Given the description of an element on the screen output the (x, y) to click on. 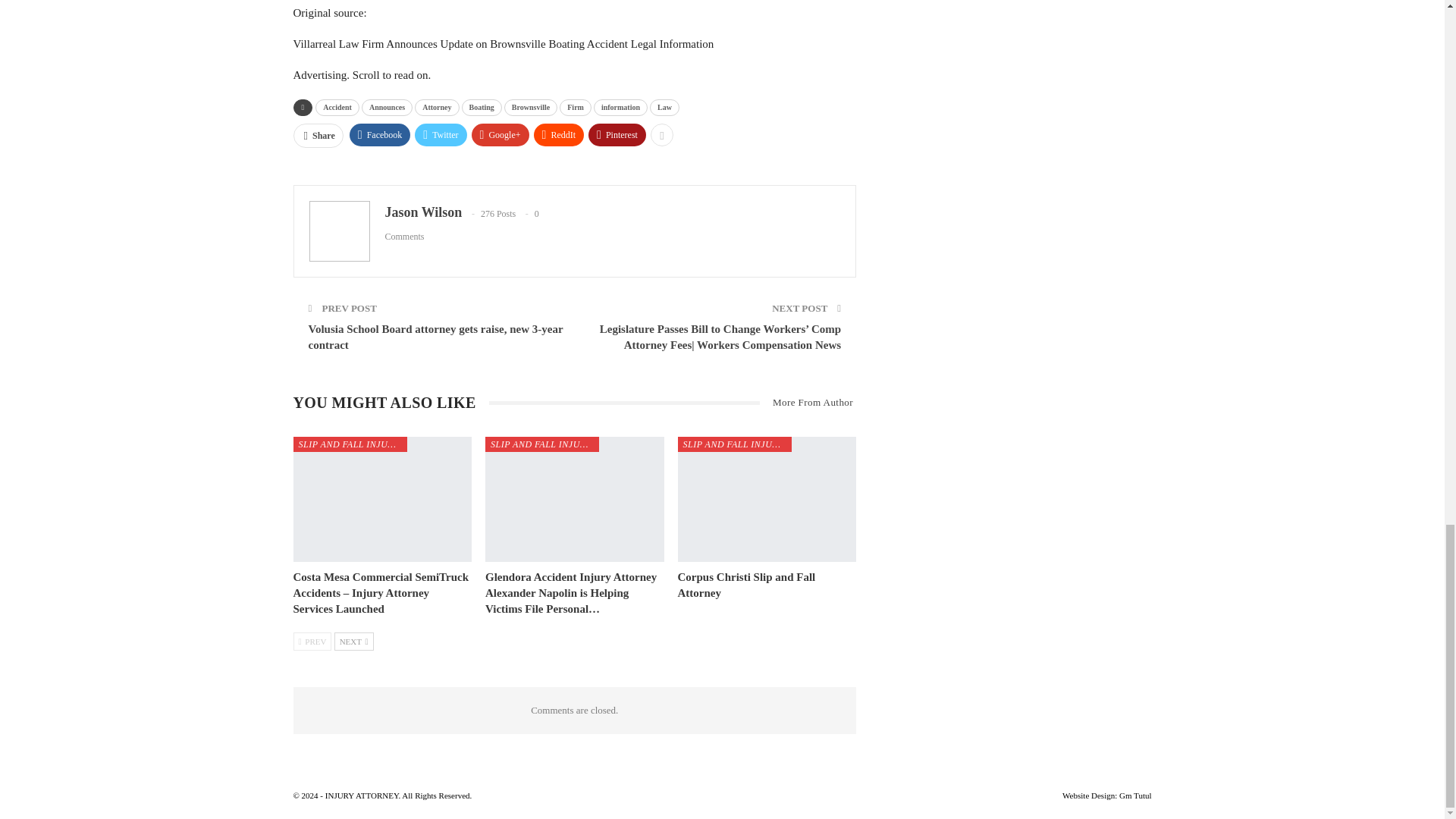
Law (664, 107)
Firm (575, 107)
Boating (481, 107)
Next (354, 641)
Accident (337, 107)
Previous (311, 641)
Facebook (379, 134)
information (620, 107)
Corpus Christi Slip and Fall Attorney (767, 498)
Brownsville (530, 107)
Corpus Christi Slip and Fall Attorney (746, 584)
Pinterest (617, 134)
Attorney (436, 107)
